Given the description of an element on the screen output the (x, y) to click on. 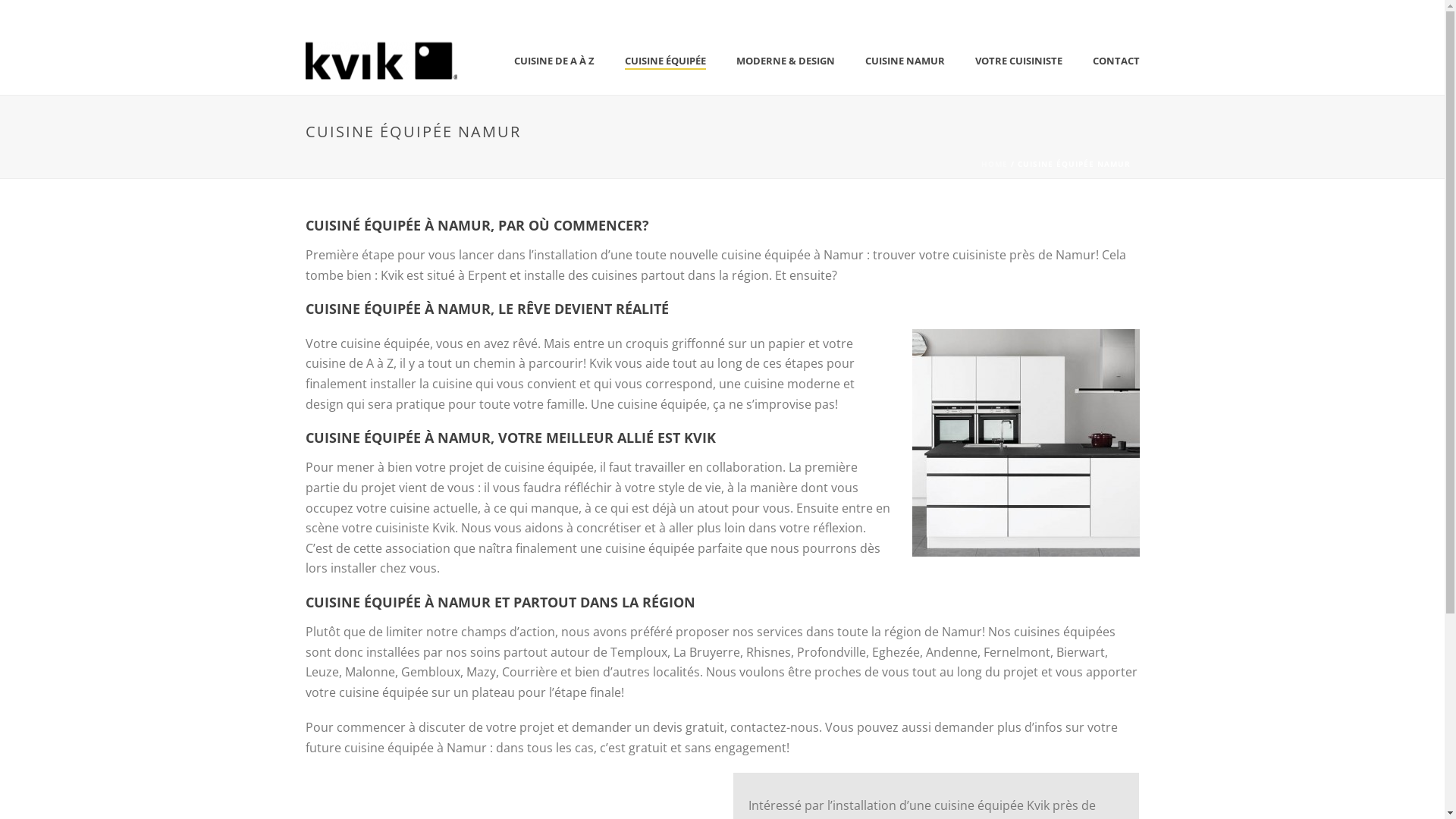
MODERNE & DESIGN Element type: text (784, 61)
CONTACT Element type: text (1115, 61)
HOME Element type: text (994, 163)
CUISINE NAMUR Element type: text (904, 61)
VOTRE CUISINISTE Element type: text (1018, 61)
